Given the description of an element on the screen output the (x, y) to click on. 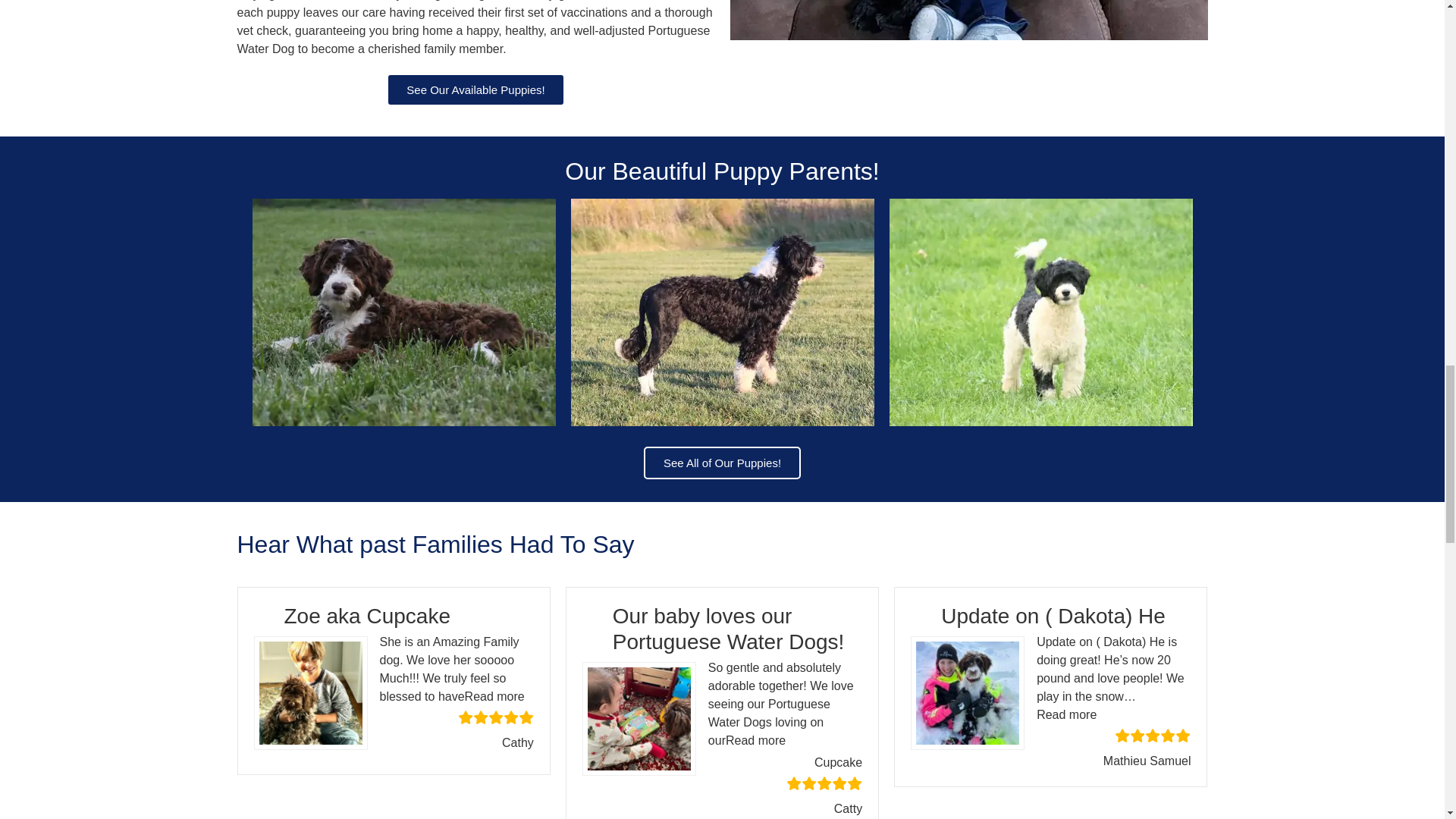
Read more (1066, 714)
See Our Available Puppies! (475, 89)
Read more (494, 696)
Read more (755, 739)
See All of Our Puppies! (721, 462)
